Given the description of an element on the screen output the (x, y) to click on. 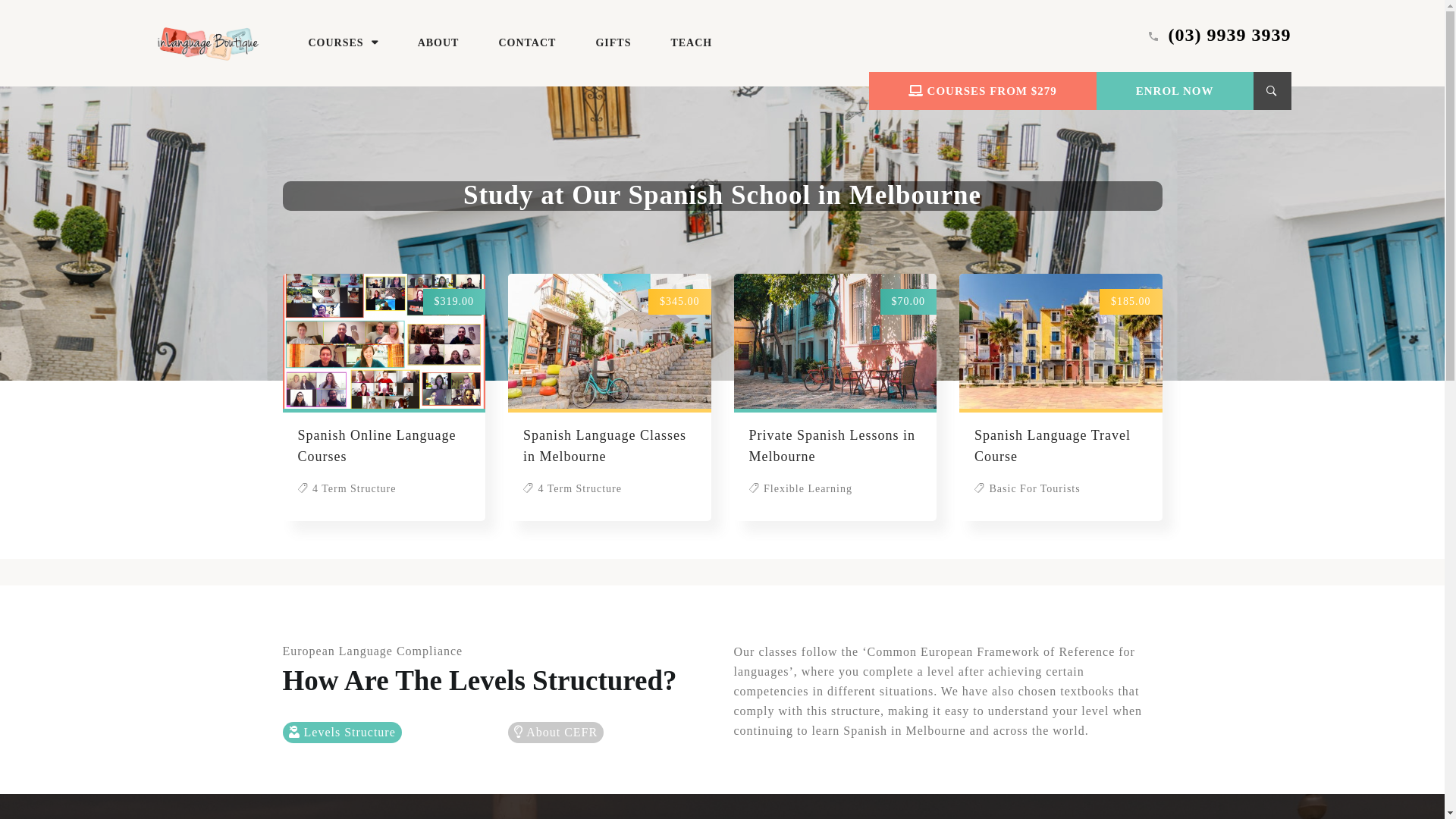
ABOUT Element type: text (438, 42)
ENROL NOW Element type: text (1174, 90)
GIFTS Element type: text (612, 42)
COURSES Element type: text (342, 42)
Spanish Language Travel Course Element type: text (1052, 445)
COURSES FROM $279 Element type: text (982, 90)
(03) 9939 3939 Element type: text (1229, 34)
Spanish Online Language Courses Element type: text (376, 445)
Spanish Language Classes in Melbourne Element type: text (604, 445)
Flexible Learning Element type: text (800, 488)
TEACH Element type: text (690, 42)
Levels Structure Element type: text (341, 732)
CONTACT Element type: text (526, 42)
4 Term Structure Element type: text (346, 488)
About CEFR Element type: text (555, 732)
Basic For Tourists Element type: text (1027, 488)
4 Term Structure Element type: text (572, 488)
Private Spanish Lessons in Melbourne Element type: text (832, 445)
